Given the description of an element on the screen output the (x, y) to click on. 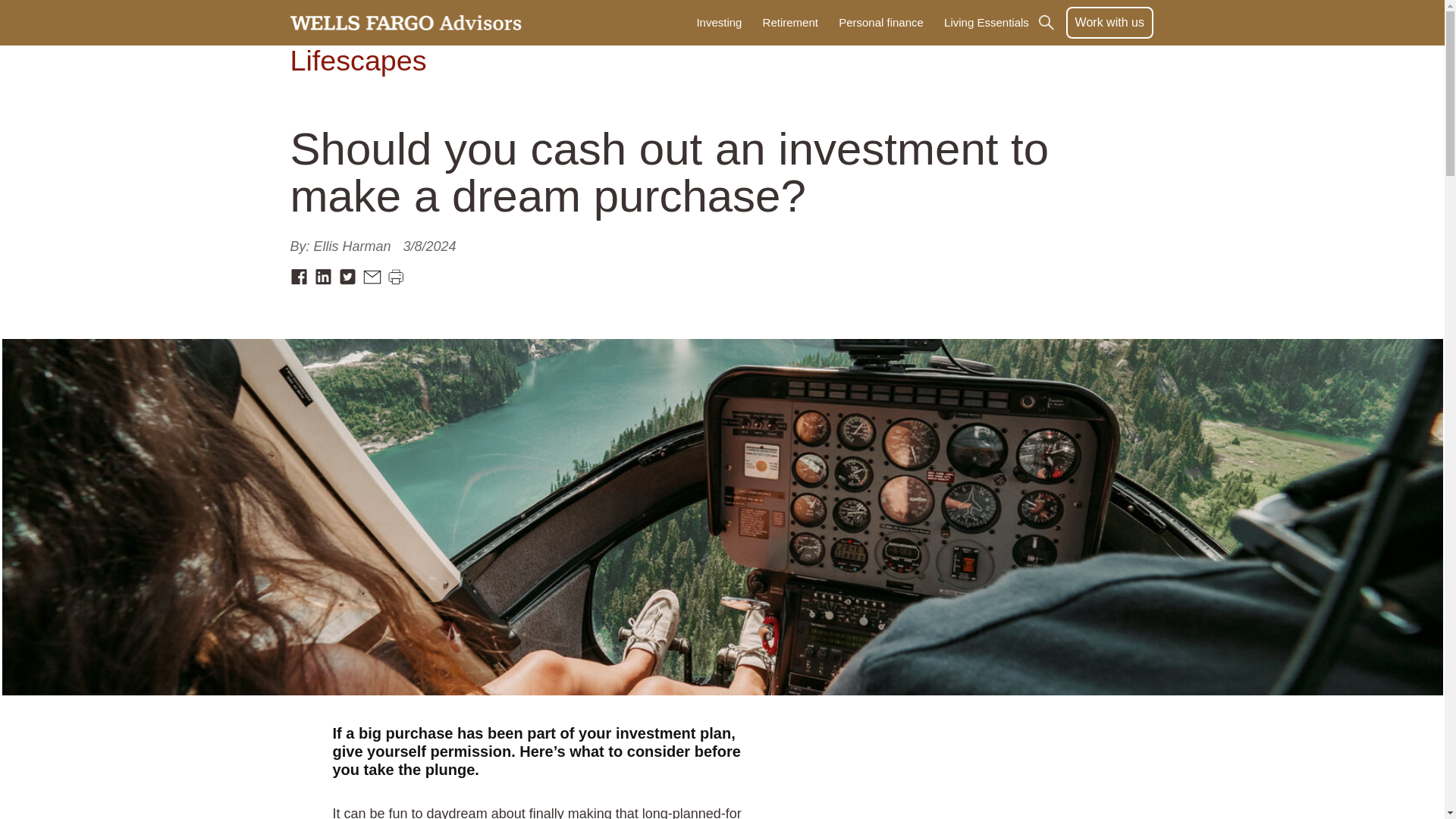
Work with us (1109, 22)
LinkedIn (322, 276)
Facebook (298, 276)
Living Essentials (986, 22)
Investing (719, 22)
Retirement (790, 22)
Personal finance (881, 22)
Print (395, 276)
Twitter (346, 276)
Open search modal (1050, 22)
Email (371, 276)
